Given the description of an element on the screen output the (x, y) to click on. 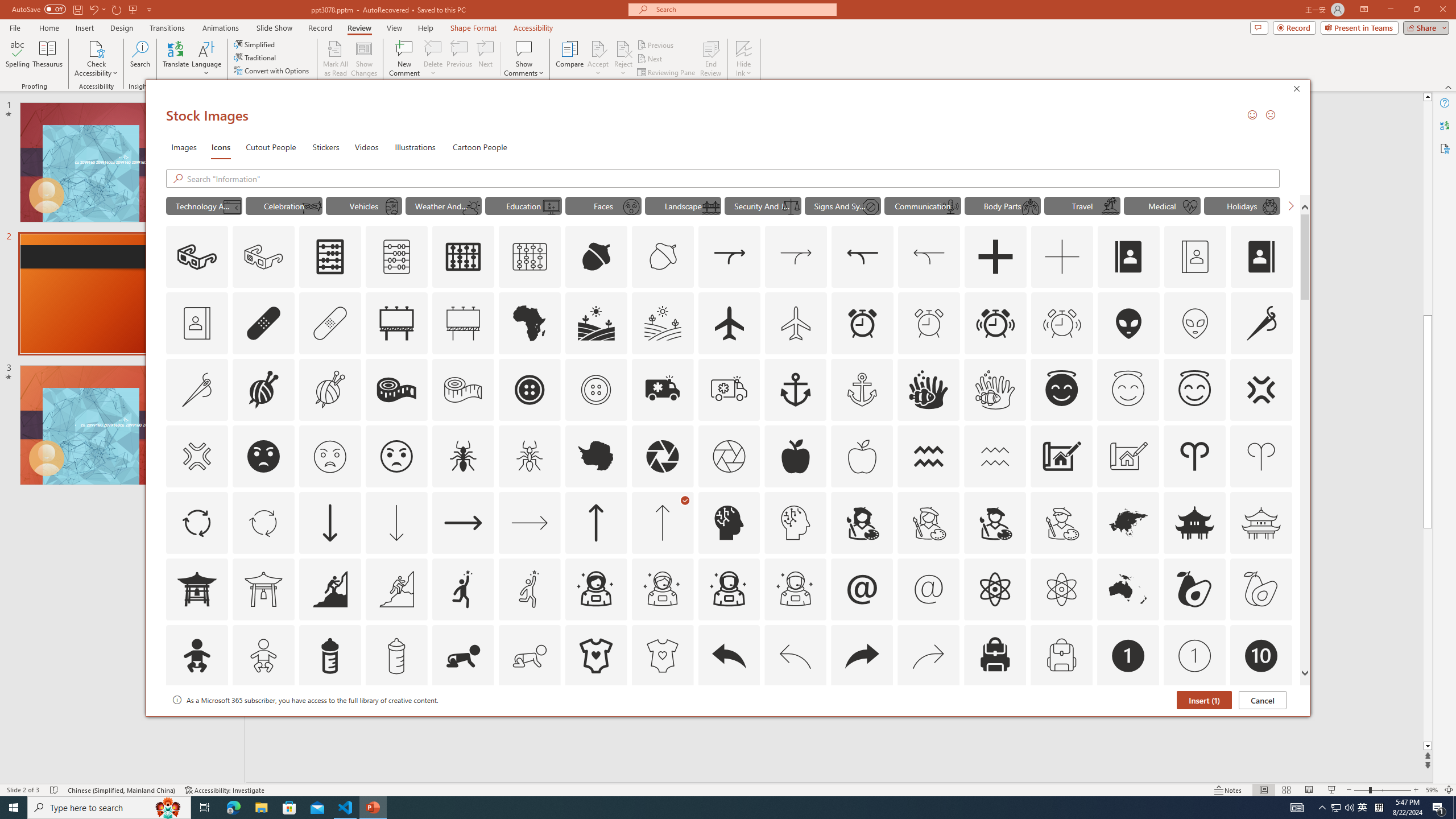
AutomationID: Icons_AlterationsTailoring1 (263, 389)
AutomationID: Icons_AstronautFemale (595, 588)
AutomationID: Icons_Atom (995, 588)
AutomationID: Icons_BabyCrawling (462, 655)
AutomationID: Icons_Back_RTL_M (928, 655)
AutomationID: Icons_AstronautMale (729, 588)
